Given the description of an element on the screen output the (x, y) to click on. 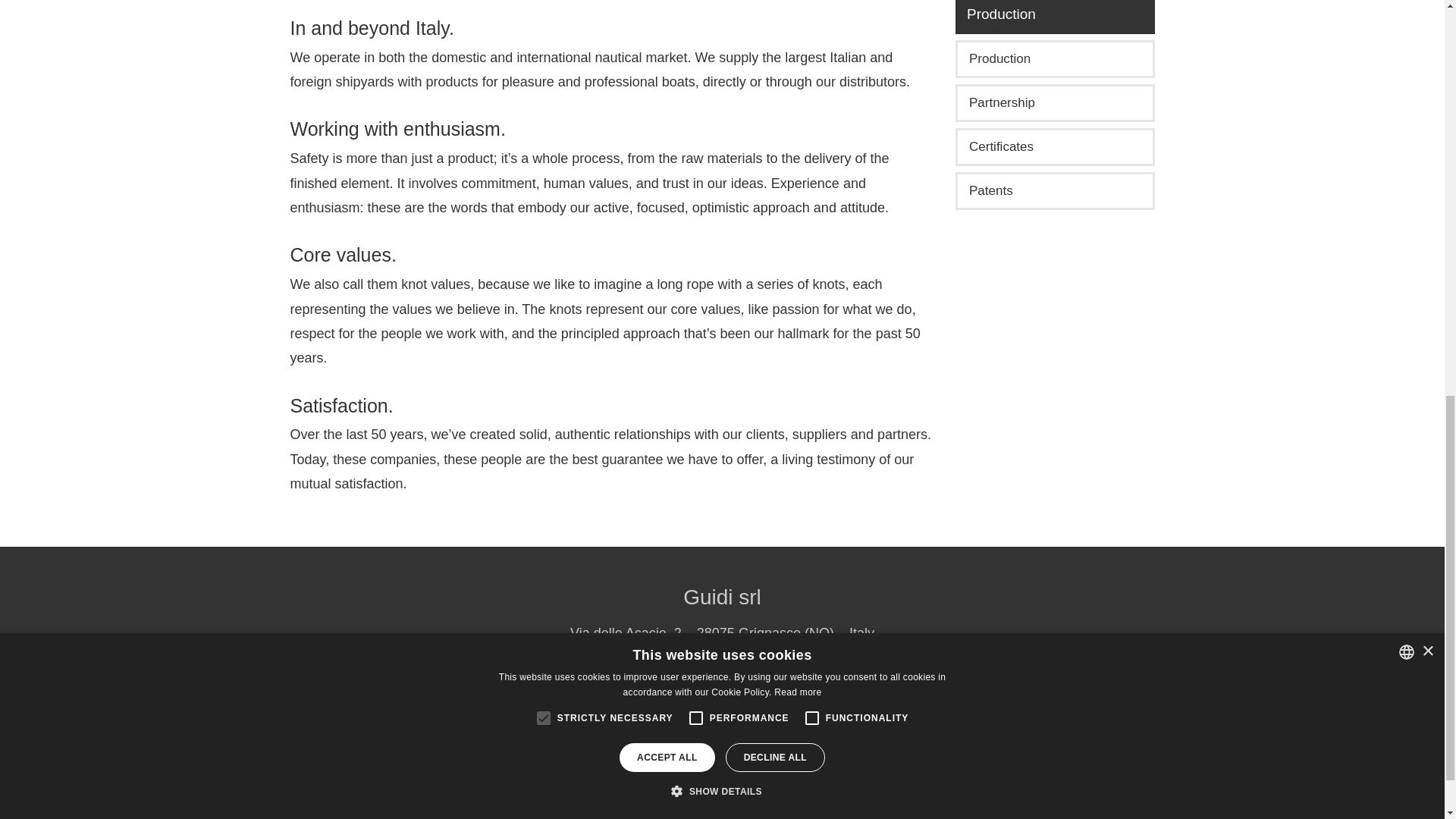
Privacy Policy (778, 682)
Production (1054, 58)
NEWSLETTER (721, 723)
Cookie Policy (872, 682)
Note legali (691, 682)
Patents (1054, 190)
Partnership (1054, 103)
Certificates (1054, 146)
